Given the description of an element on the screen output the (x, y) to click on. 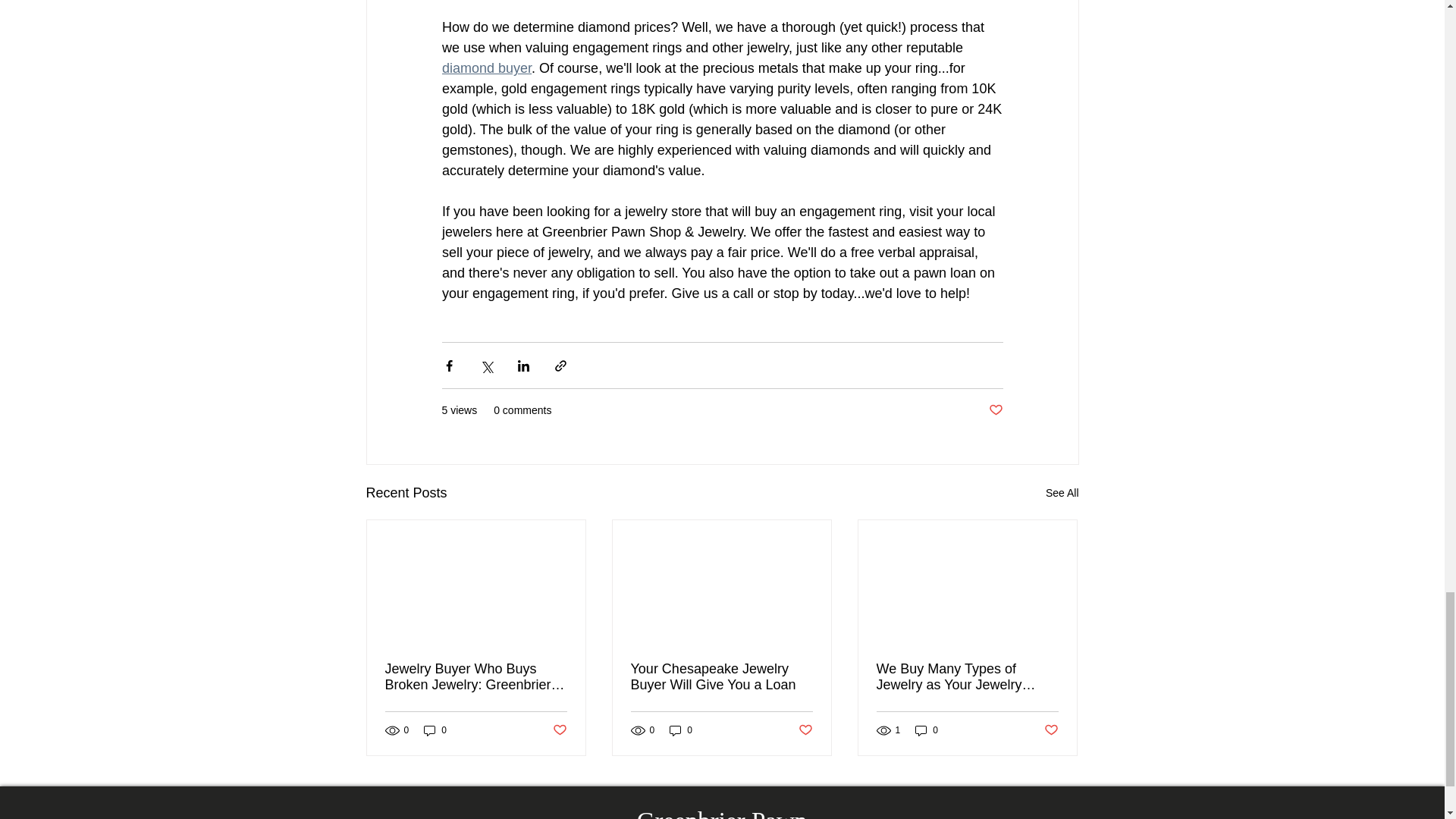
We Buy Many Types of Jewelry as Your Jewelry Buyer (967, 676)
0 (926, 730)
Your Chesapeake Jewelry Buyer Will Give You a Loan (721, 676)
Post not marked as liked (804, 730)
diamond buyer (486, 68)
Post not marked as liked (558, 730)
Jewelry Buyer Who Buys Broken Jewelry: Greenbrier Pawn (476, 676)
Post not marked as liked (995, 410)
0 (435, 730)
See All (1061, 493)
Post not marked as liked (1050, 730)
0 (681, 730)
